Given the description of an element on the screen output the (x, y) to click on. 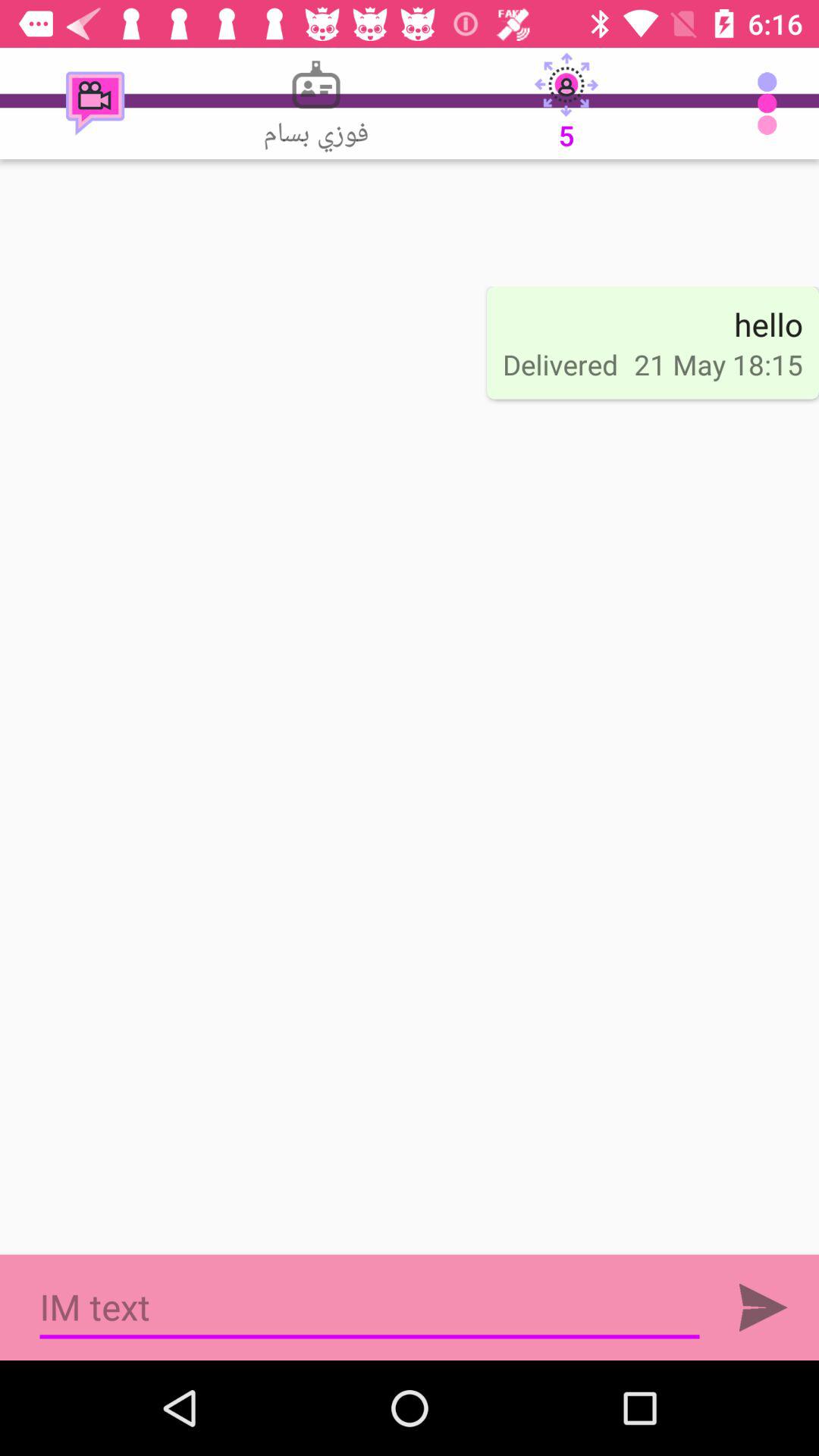
turn on 21 may 18 icon (718, 364)
